Given the description of an element on the screen output the (x, y) to click on. 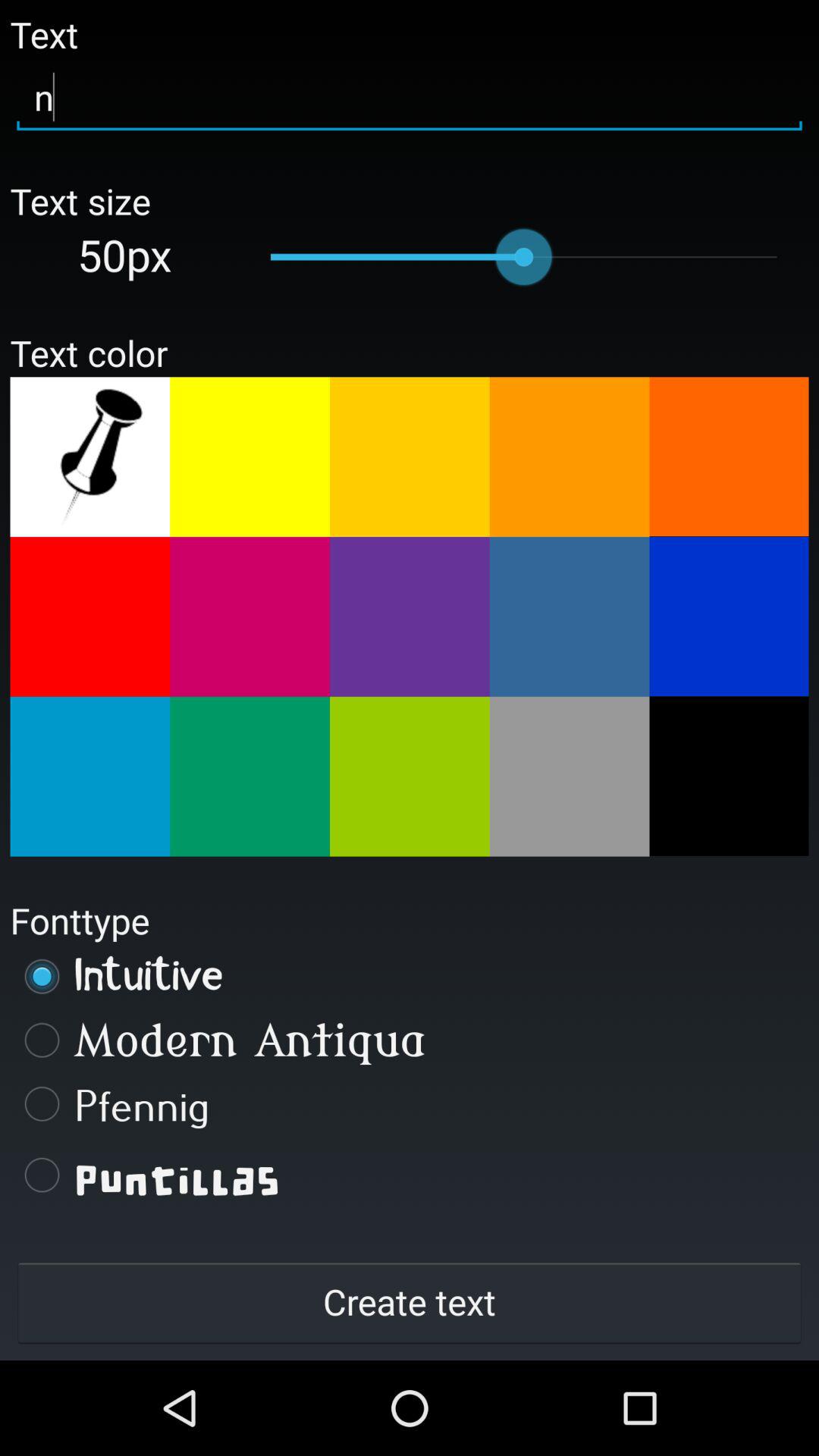
purple text color (409, 616)
